Given the description of an element on the screen output the (x, y) to click on. 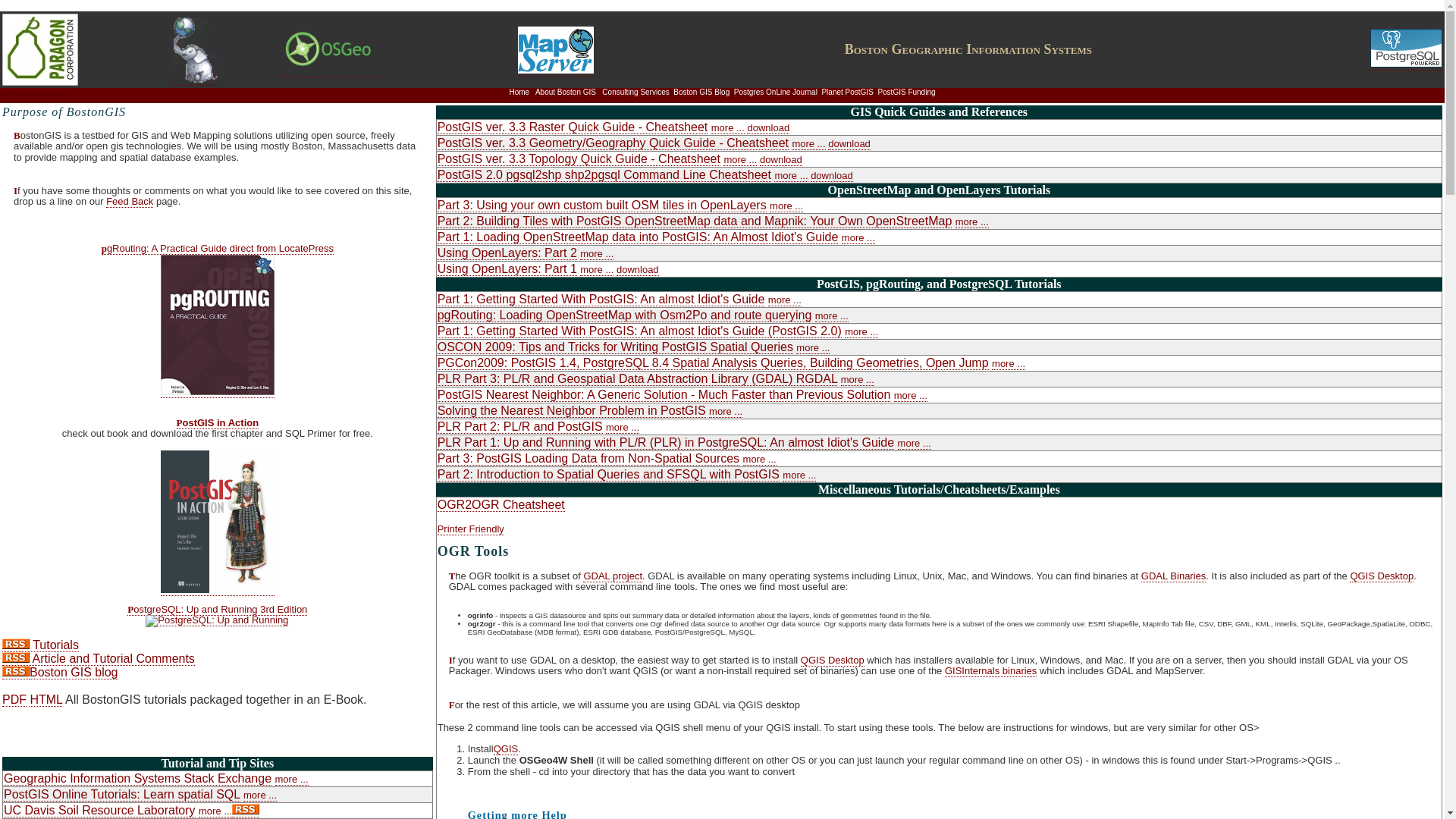
PostGIS in Action (217, 422)
more ... (259, 795)
PostGIS Online Tutorials: Learn spatial SQL (122, 794)
Geographic Information Systems Stack Exchange (137, 778)
About Boston GIS (565, 92)
PostGIS Spatial Database Engine (194, 78)
PostGIS in Action (217, 422)
Boston GIS blog (73, 672)
PostgreSQL: Up and Running 3rd Edition (217, 614)
pgRouting: A Practical Guide direct from LocatePress (217, 319)
PostGIS Funding (905, 92)
PostGIS in Action (217, 589)
UC Davis Soil Resource Laboratory (99, 810)
Tutorials (40, 644)
Feed Back (129, 201)
